Given the description of an element on the screen output the (x, y) to click on. 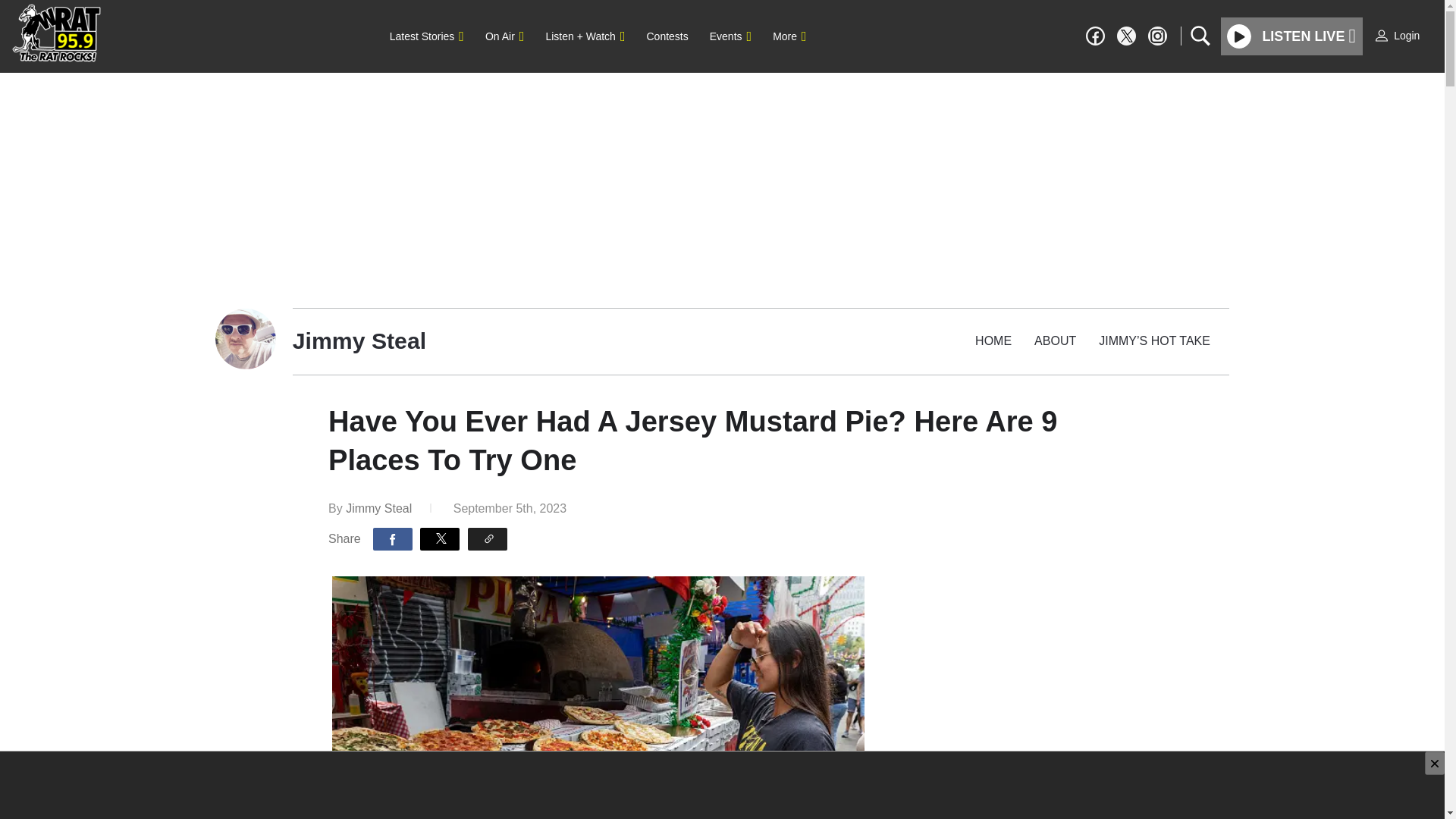
On Air (504, 36)
Latest Stories (426, 36)
Jimmy Steal (379, 508)
